Given the description of an element on the screen output the (x, y) to click on. 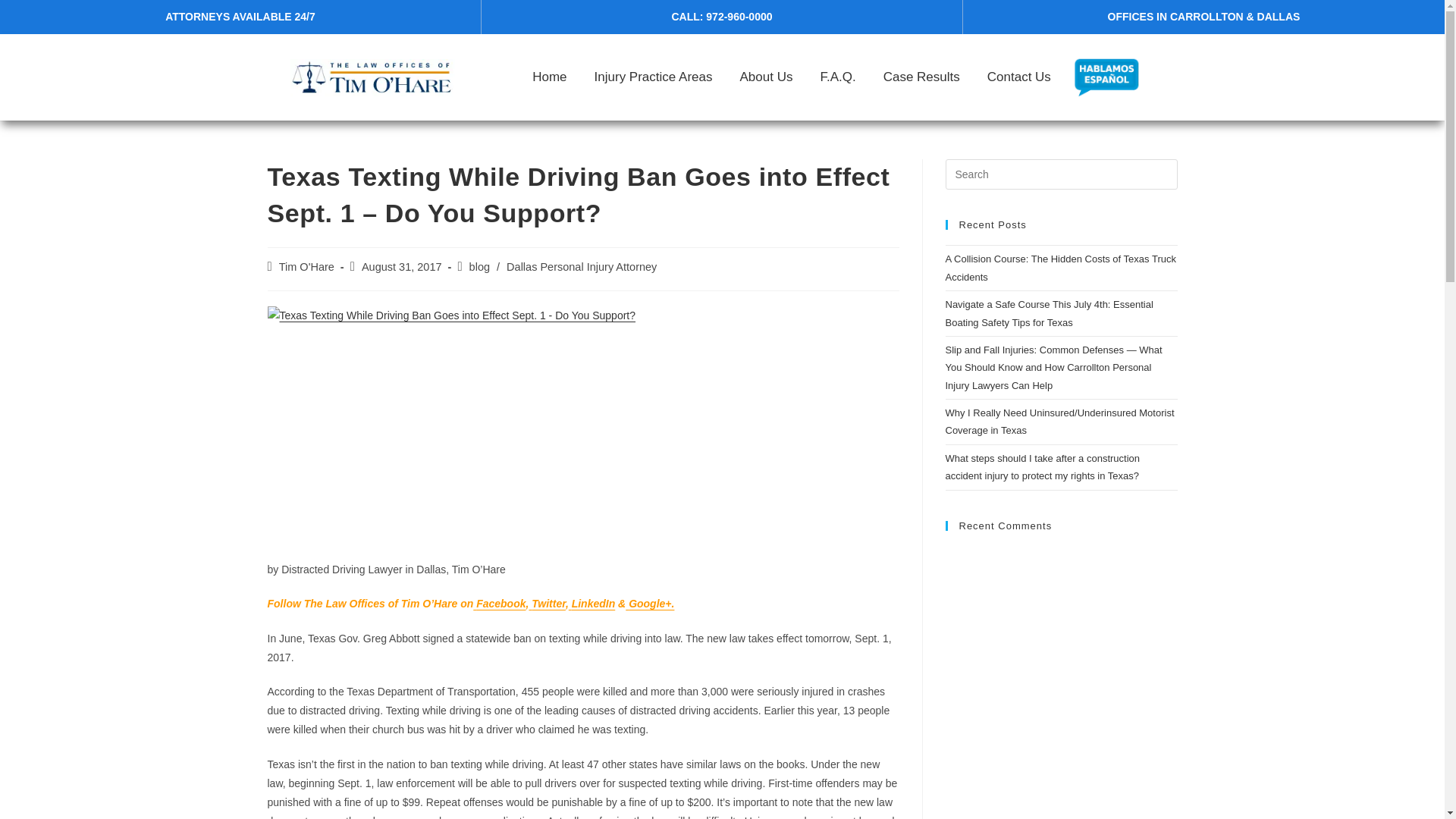
F.A.Q. (837, 76)
Contact Us (1019, 76)
Injury Practice Areas (653, 76)
972-960-0000 (738, 16)
About Us (765, 76)
Case Results (921, 76)
Posts by Tim O'Hare (306, 266)
Home (548, 76)
